Given the description of an element on the screen output the (x, y) to click on. 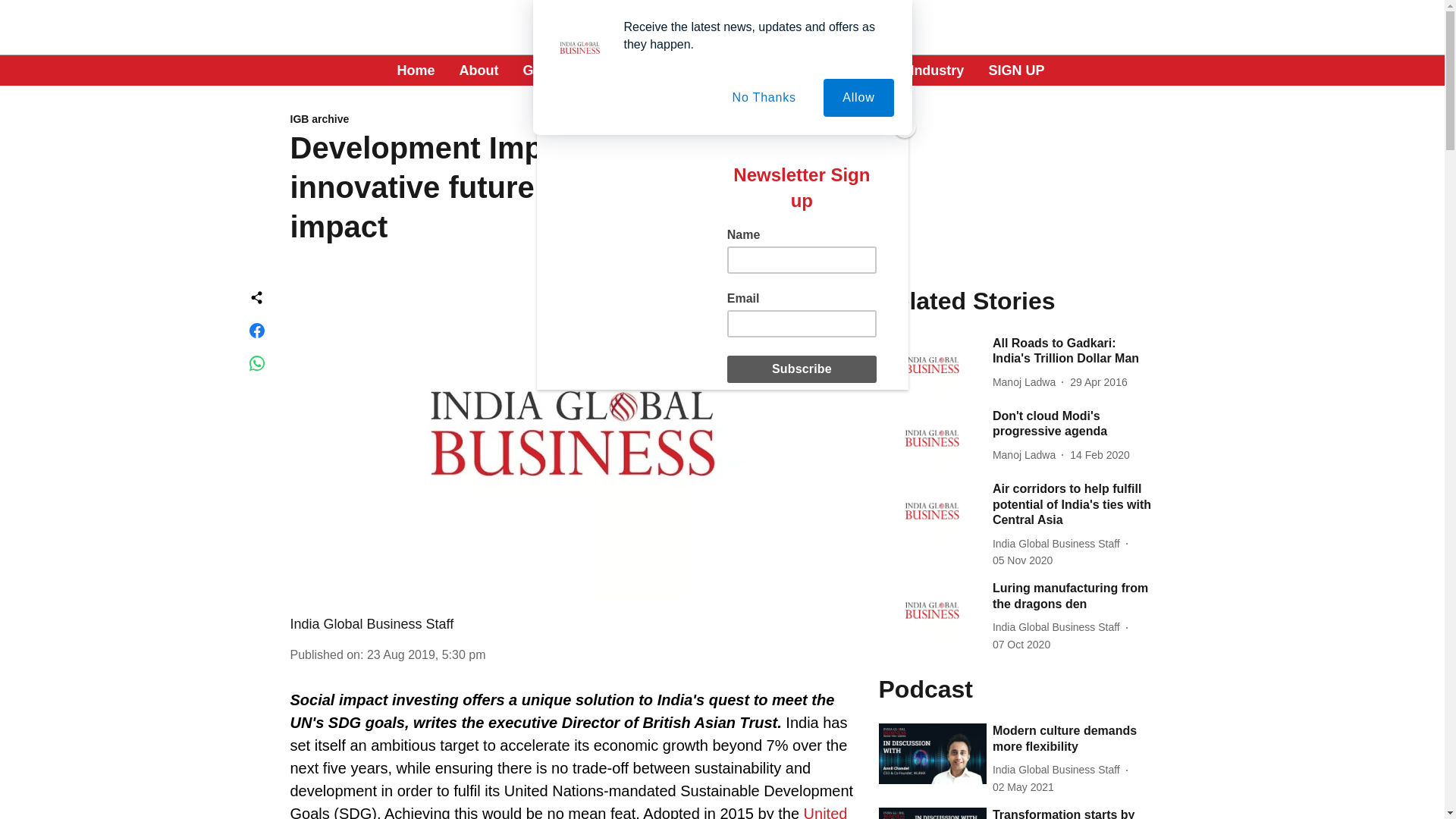
2020-10-07 13:34 (1020, 644)
2019-08-23 09:30 (426, 654)
2020-02-14 13:23 (1099, 455)
Podcast (760, 70)
Geopolitics (847, 70)
Globally Speaking (582, 70)
Videos (687, 70)
Industry (936, 70)
2016-04-29 00:00 (1098, 382)
2021-05-02 05:48 (1023, 787)
2020-11-05 09:58 (1022, 560)
About (479, 70)
Home (416, 70)
